Given the description of an element on the screen output the (x, y) to click on. 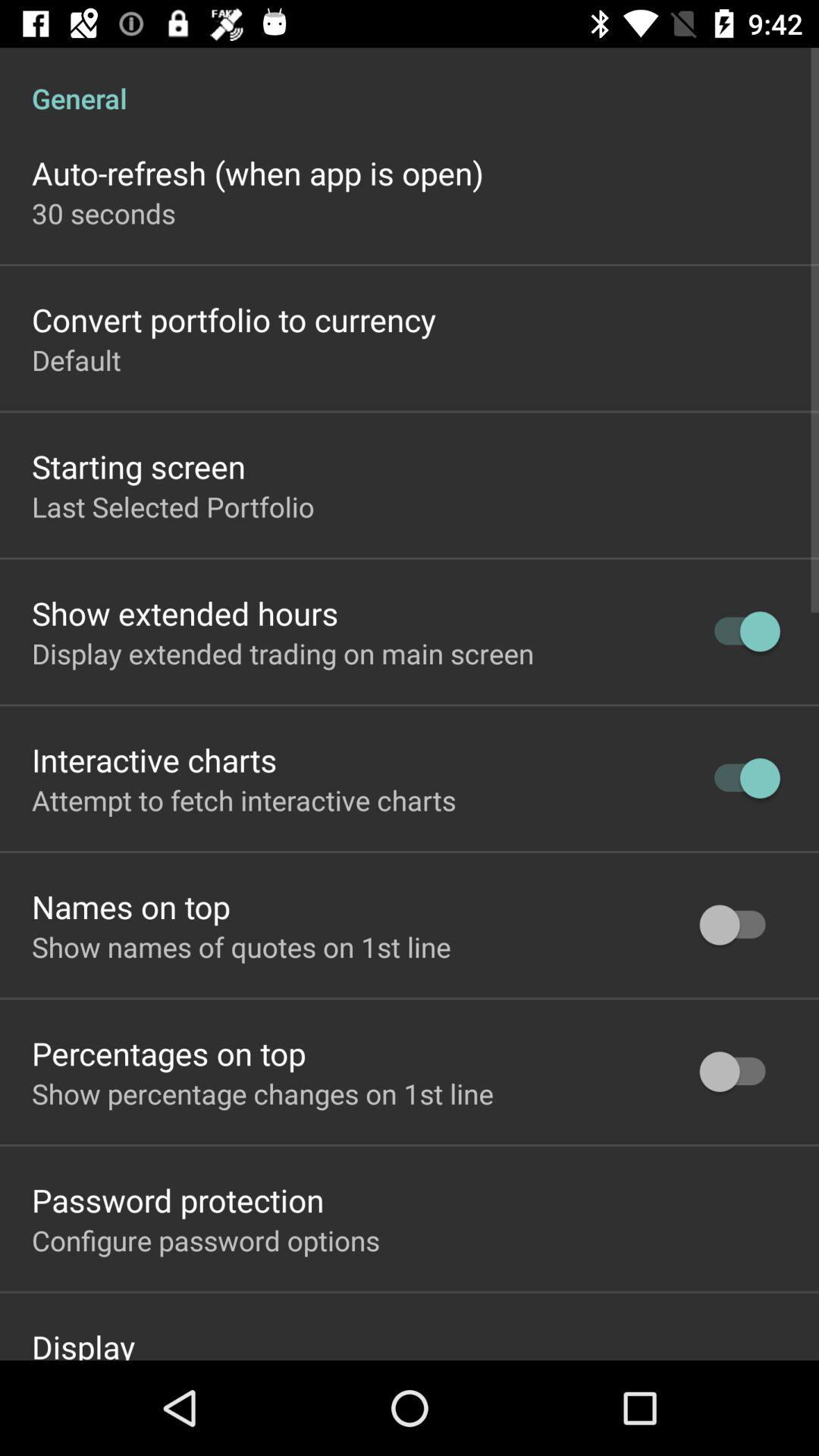
turn off icon above the auto refresh when item (409, 82)
